Given the description of an element on the screen output the (x, y) to click on. 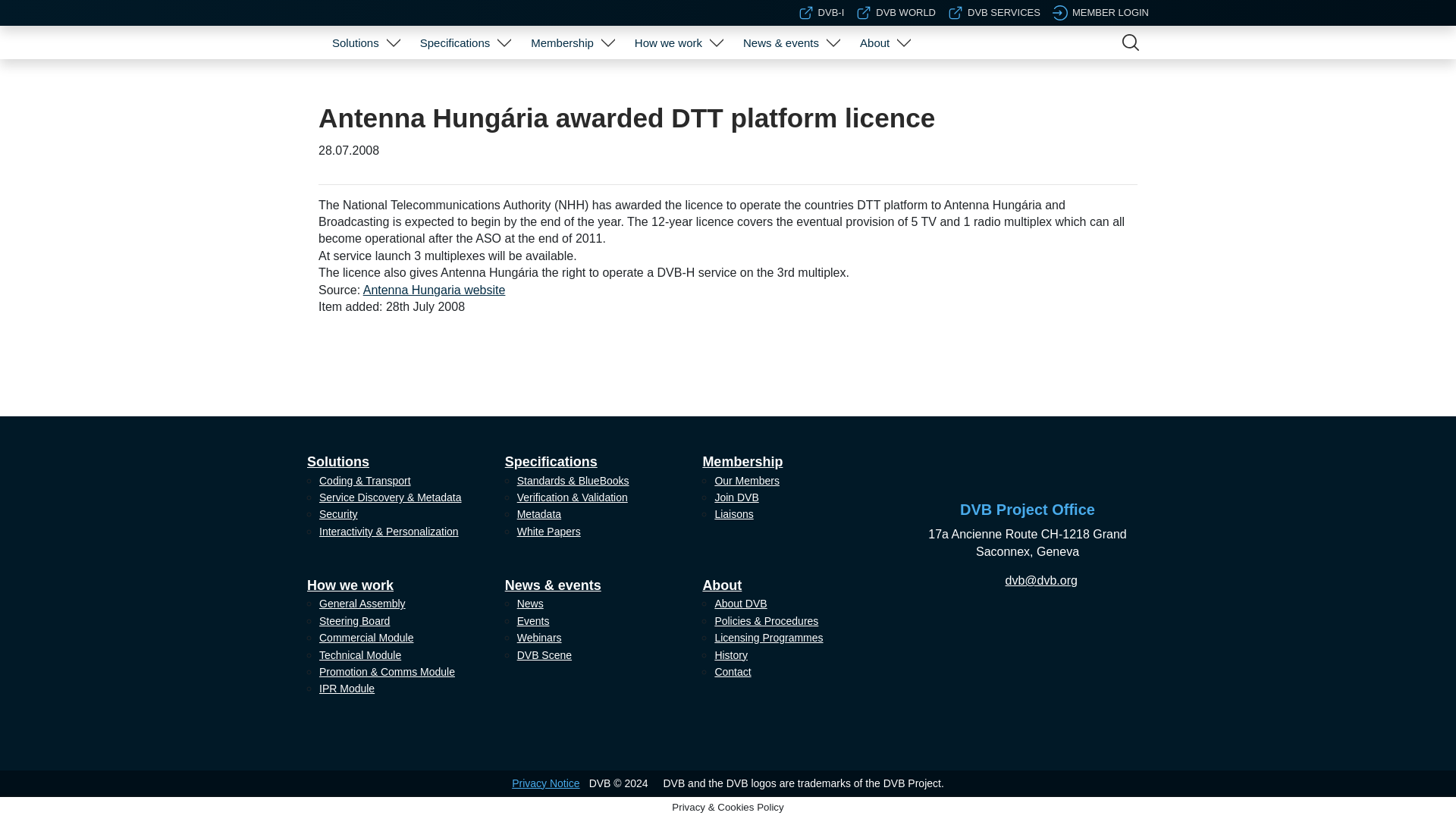
DVB SERVICES (994, 12)
About DVB (882, 80)
Solutions (355, 41)
Membership (561, 41)
About (874, 41)
News (789, 80)
DVB WORLD (896, 12)
DVB-I (820, 12)
Our Members (570, 80)
Specifications (454, 41)
